Given the description of an element on the screen output the (x, y) to click on. 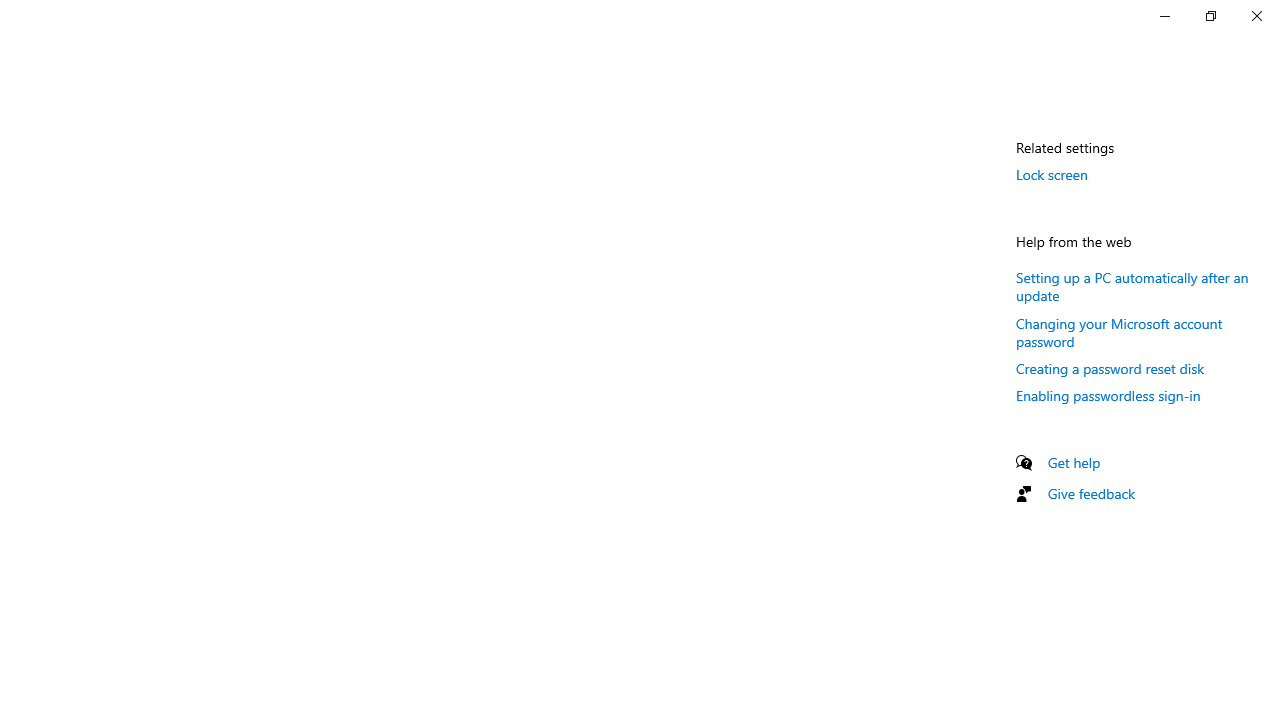
Restore Settings (1210, 15)
Give feedback (1091, 493)
Changing your Microsoft account password (1119, 332)
Setting up a PC automatically after an update (1132, 286)
Close Settings (1256, 15)
Creating a password reset disk (1110, 368)
Minimize Settings (1164, 15)
Get help (1074, 462)
Lock screen (1052, 174)
Enabling passwordless sign-in (1108, 394)
